Given the description of an element on the screen output the (x, y) to click on. 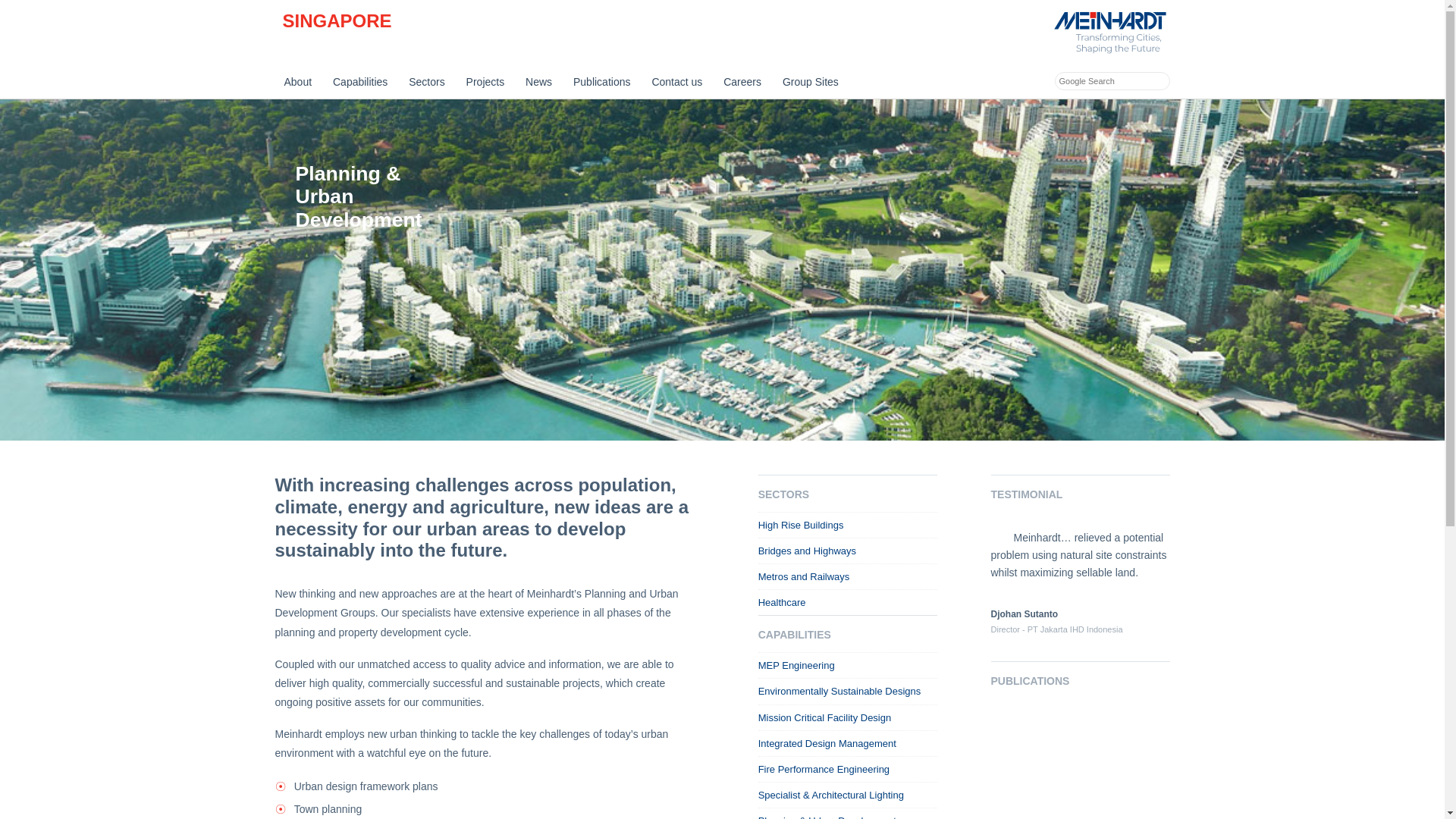
About (297, 81)
Sectors (425, 81)
Capabilities (359, 81)
SINGAPORE (336, 20)
Singapore (336, 20)
